Given the description of an element on the screen output the (x, y) to click on. 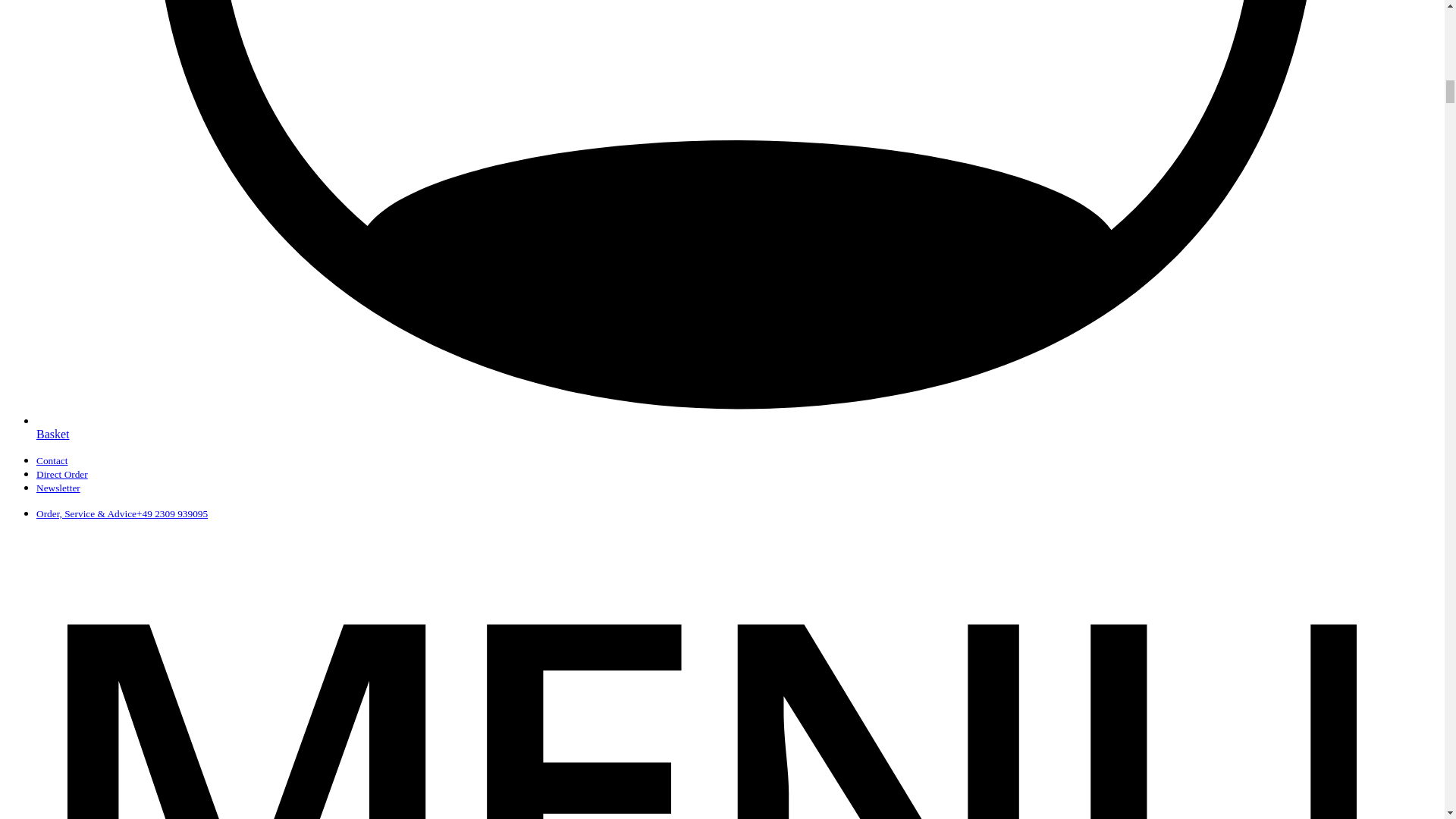
Newsletter (58, 487)
Direct Order (61, 473)
Contact (51, 460)
